Given the description of an element on the screen output the (x, y) to click on. 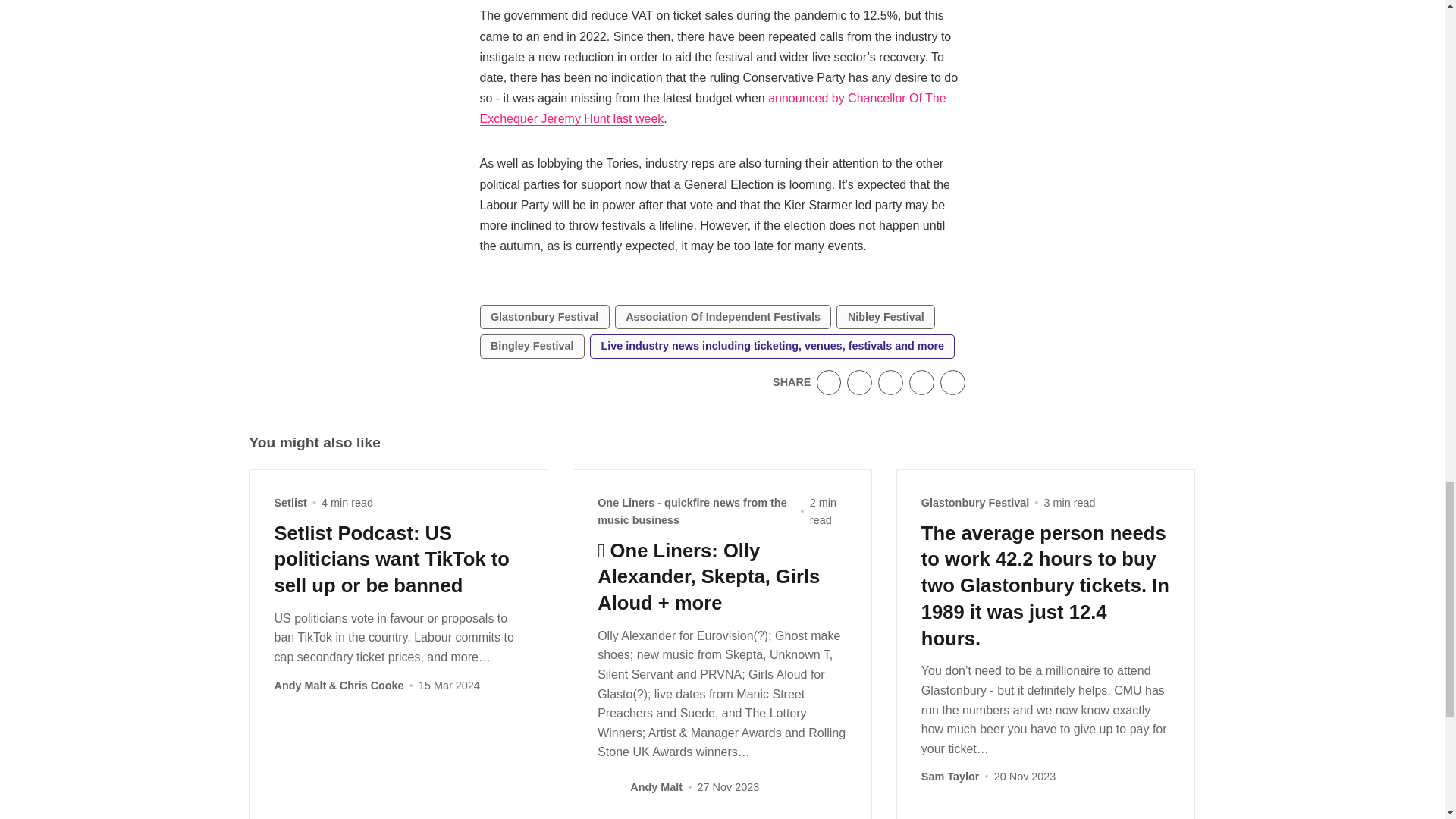
Share on Twitter (828, 382)
Glastonbury Festival (543, 316)
Association Of Independent Festivals (722, 316)
Share by email (921, 382)
Bingley Festival (531, 346)
Share on Linkedin (889, 382)
Share on Facebook (859, 382)
Nibley Festival (884, 316)
